Given the description of an element on the screen output the (x, y) to click on. 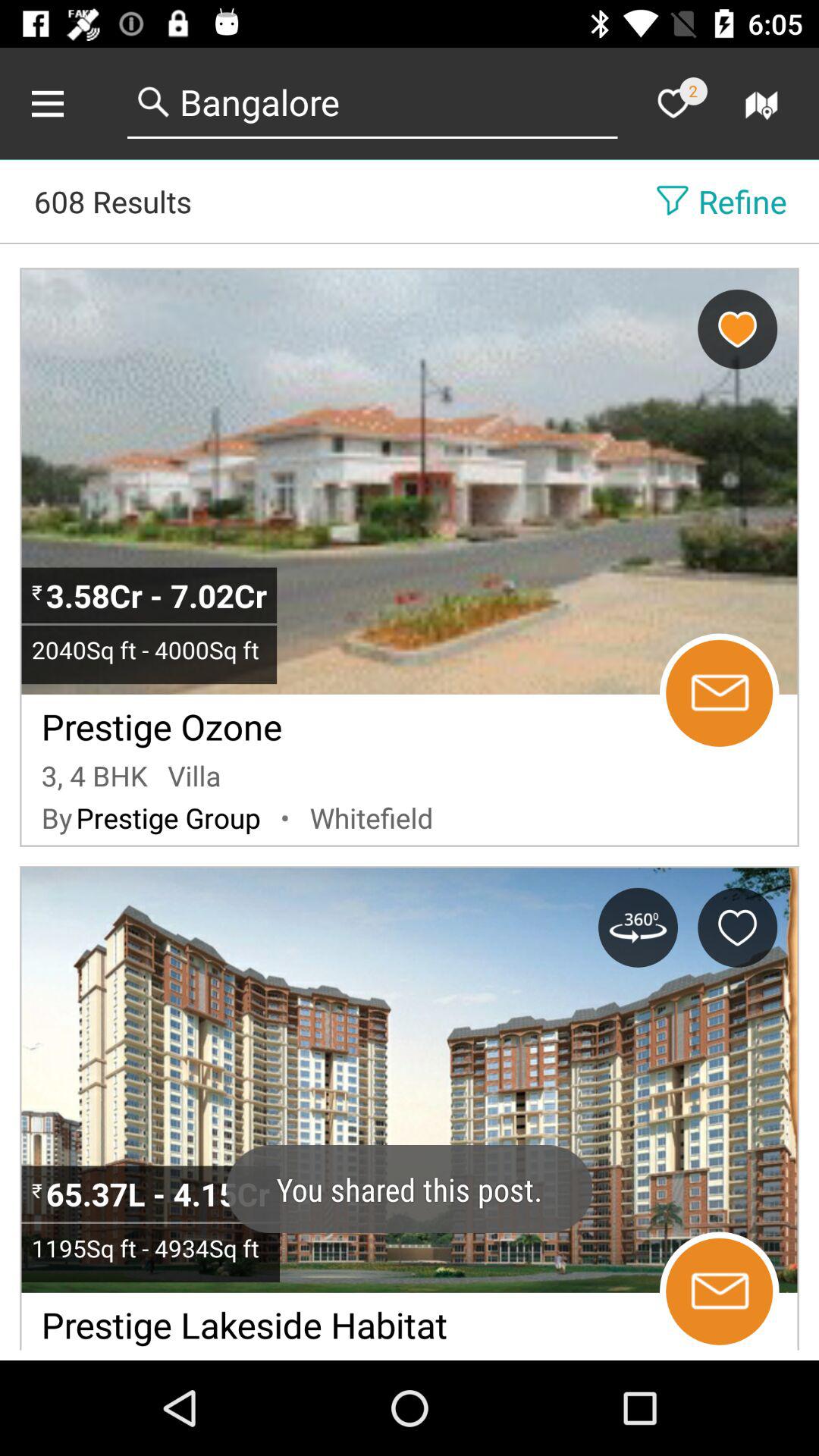
create message (719, 693)
